Given the description of an element on the screen output the (x, y) to click on. 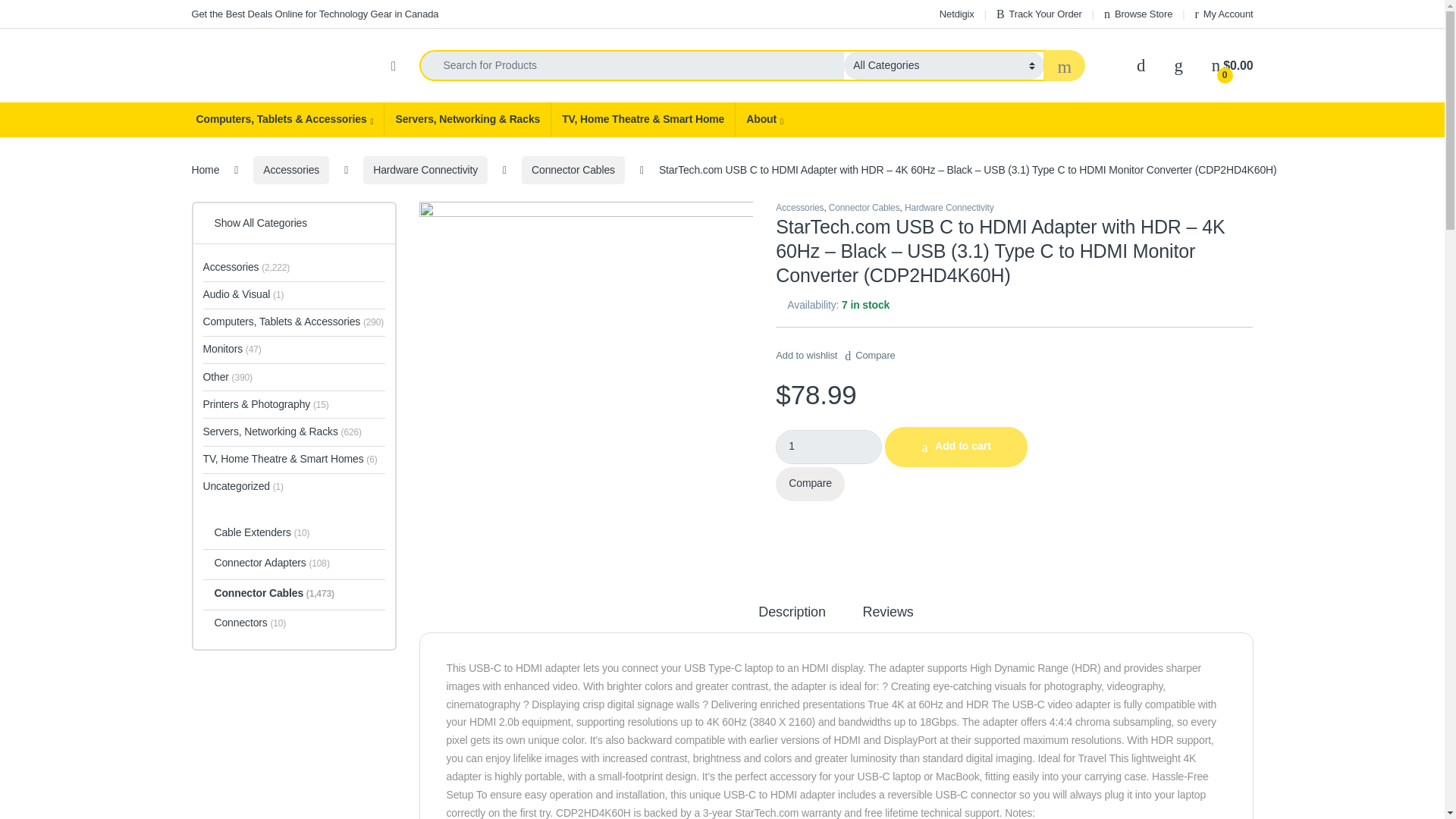
Netdigix (956, 13)
Browse Store (1137, 13)
1 (829, 446)
My Account (1224, 13)
My Account (1224, 13)
Track Your Order (1038, 13)
Netdigix (956, 13)
Get the Best Deals Online for Technology Gear in Canada (314, 13)
Browse Store (1137, 13)
Get the Best Deals Online for Technology Gear in Canada (314, 13)
